Given the description of an element on the screen output the (x, y) to click on. 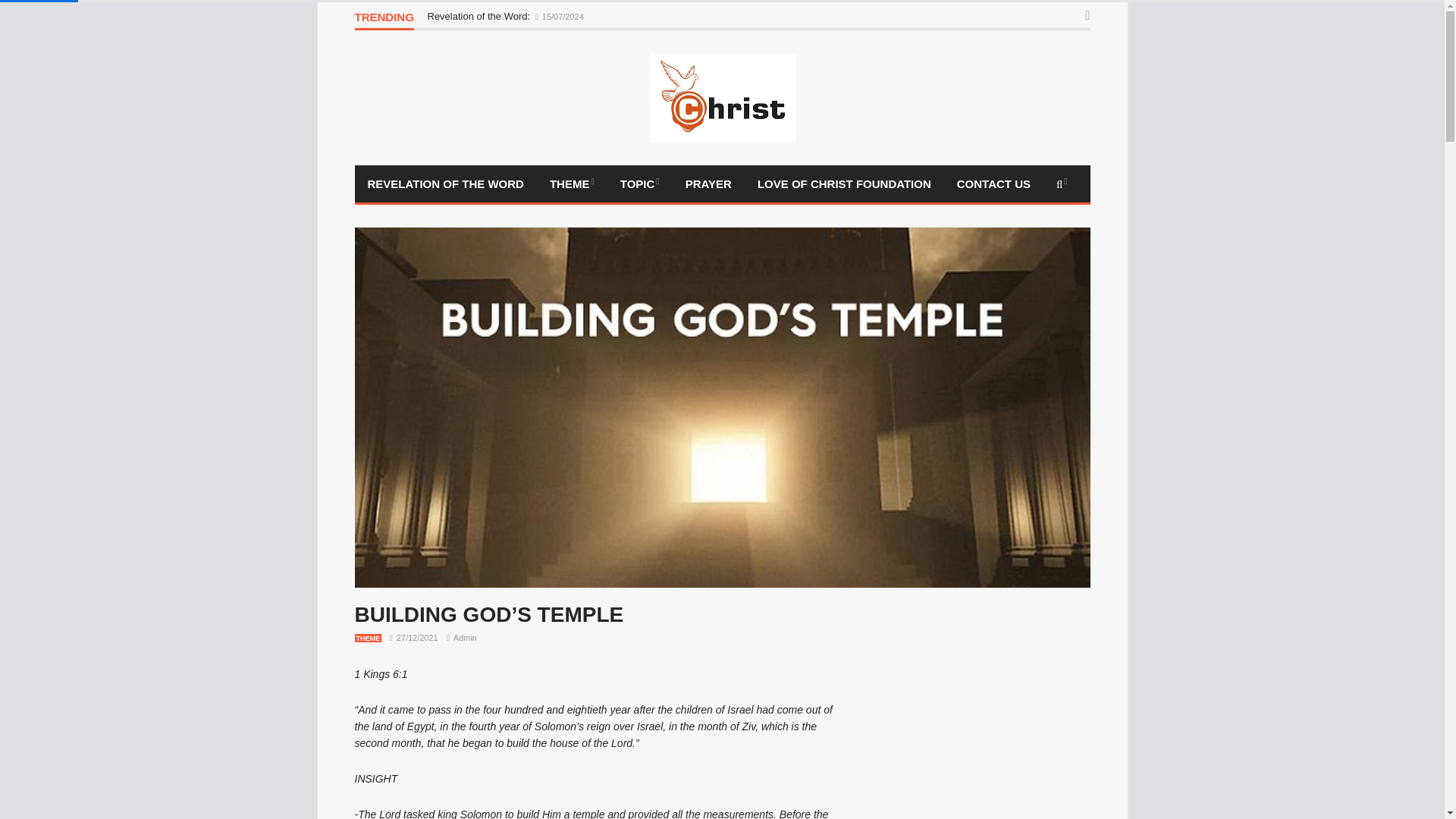
CONTACT US (993, 183)
Contact Us (993, 183)
THEME (368, 637)
Prayer (708, 183)
Love of Christ Foundation (843, 183)
Admin (464, 637)
Theme (572, 183)
LOVE OF CHRIST FOUNDATION (843, 183)
Revelation Of The Word (446, 183)
Topic (639, 183)
PRAYER (708, 183)
REVELATION OF THE WORD (446, 183)
TOPIC (639, 183)
Revelation of the Word: (480, 16)
THEME (572, 183)
